Given the description of an element on the screen output the (x, y) to click on. 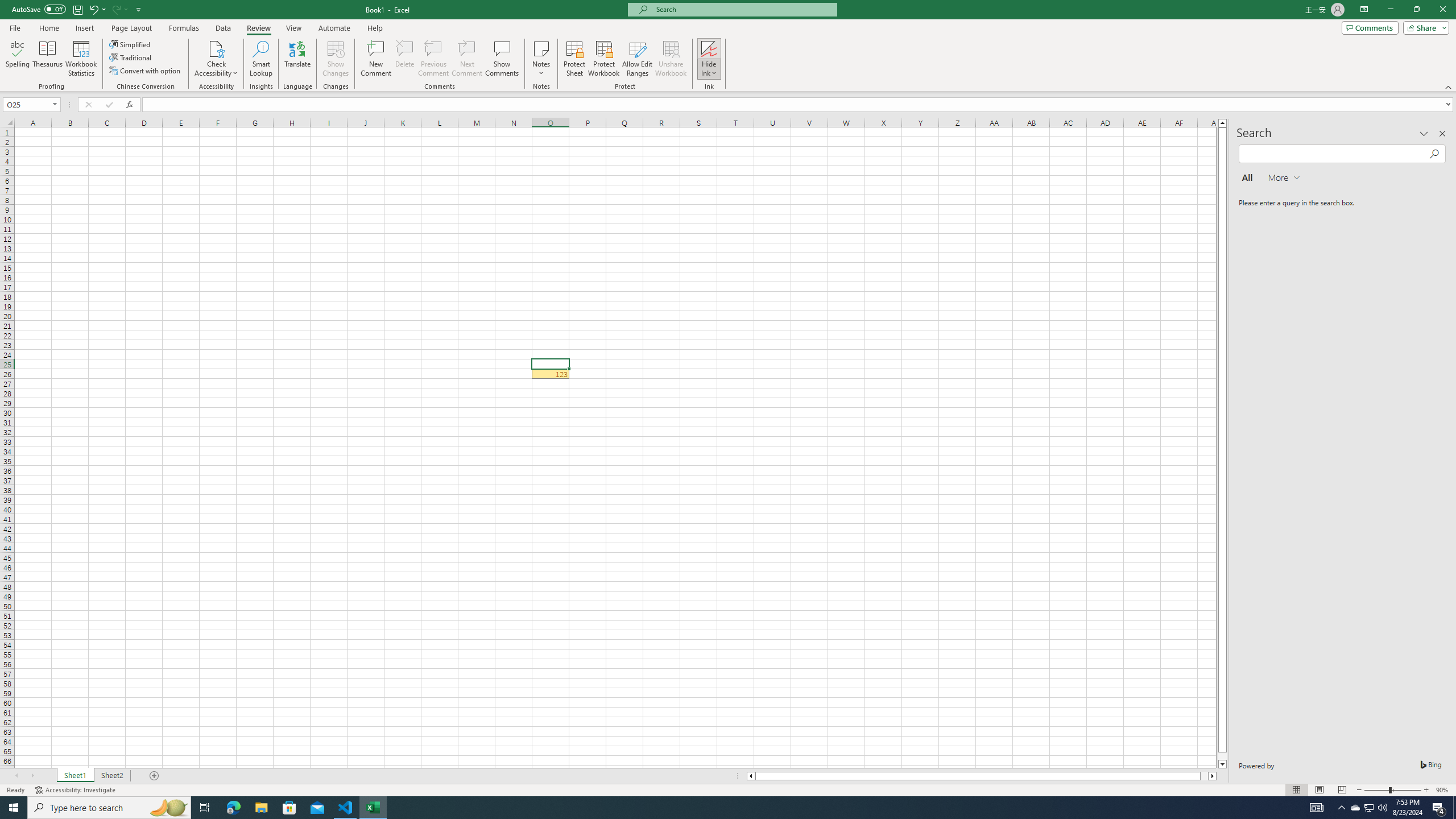
Check Accessibility (215, 48)
Page right (1204, 775)
Unshare Workbook (670, 58)
AutoSave (38, 9)
System (6, 6)
Name Box (27, 104)
Next Comment (466, 58)
Formula Bar (799, 104)
Simplified (130, 44)
Class: NetUIScrollBar (981, 775)
Add Sheet (155, 775)
Previous Comment (432, 58)
Open (54, 104)
Translate (297, 58)
Zoom Out (1376, 790)
